Given the description of an element on the screen output the (x, y) to click on. 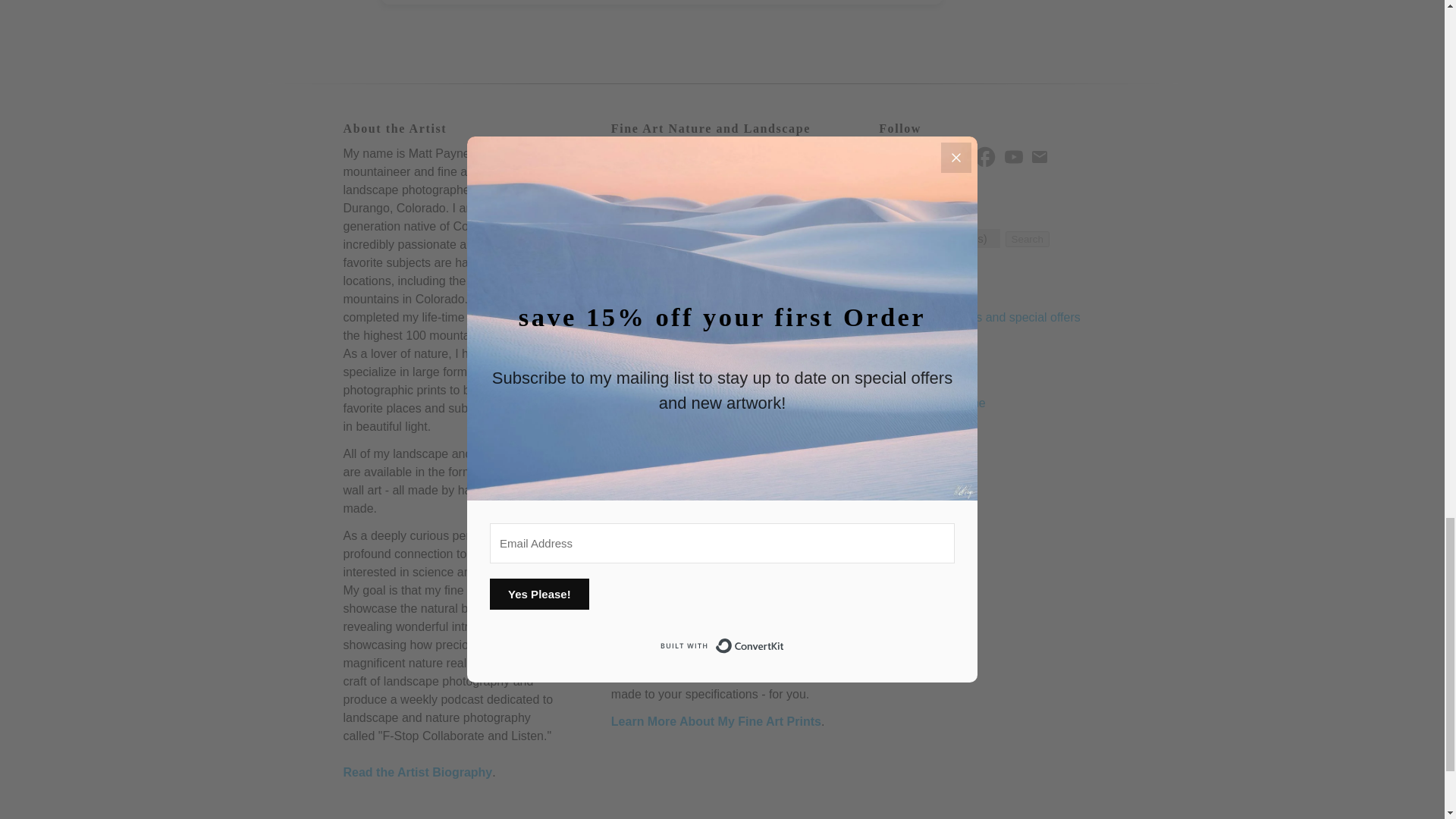
Follow on Twitter (951, 156)
Follow on Facebook (986, 155)
Follow on Flickr (920, 156)
Follow on YouTube (1015, 155)
Read the Artist Biography (417, 771)
Follow on Twitter (954, 155)
Follow on Flickr (922, 155)
Follow on Instagram (891, 155)
Follow on YouTube (1013, 157)
Follow on Instagram (889, 156)
Email Signup (1041, 155)
